Given the description of an element on the screen output the (x, y) to click on. 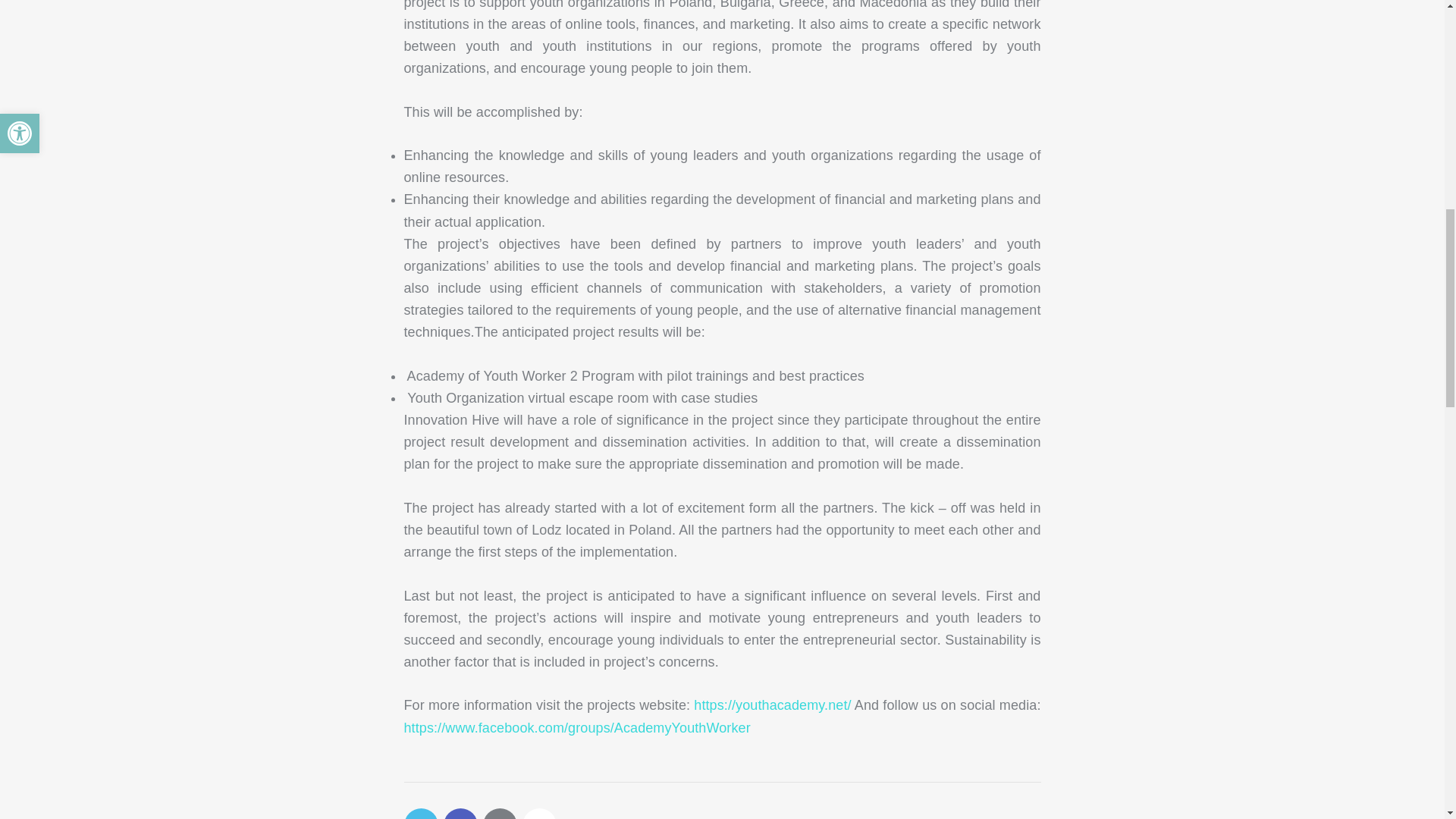
Copy URL to clipboard (538, 813)
